Given the description of an element on the screen output the (x, y) to click on. 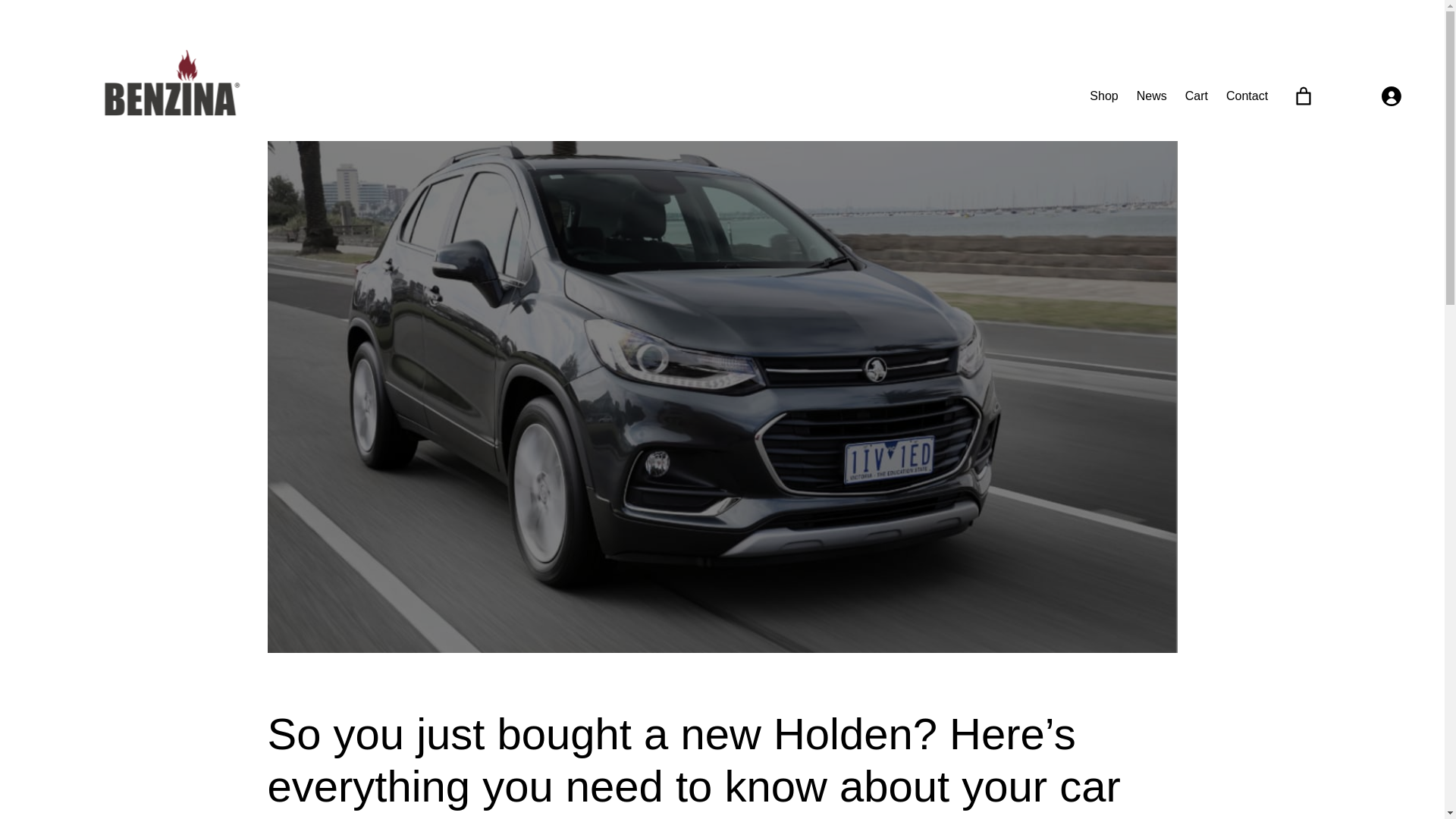
Shop (1103, 96)
News (1152, 96)
Cart (1196, 96)
Contact (1246, 96)
